Given the description of an element on the screen output the (x, y) to click on. 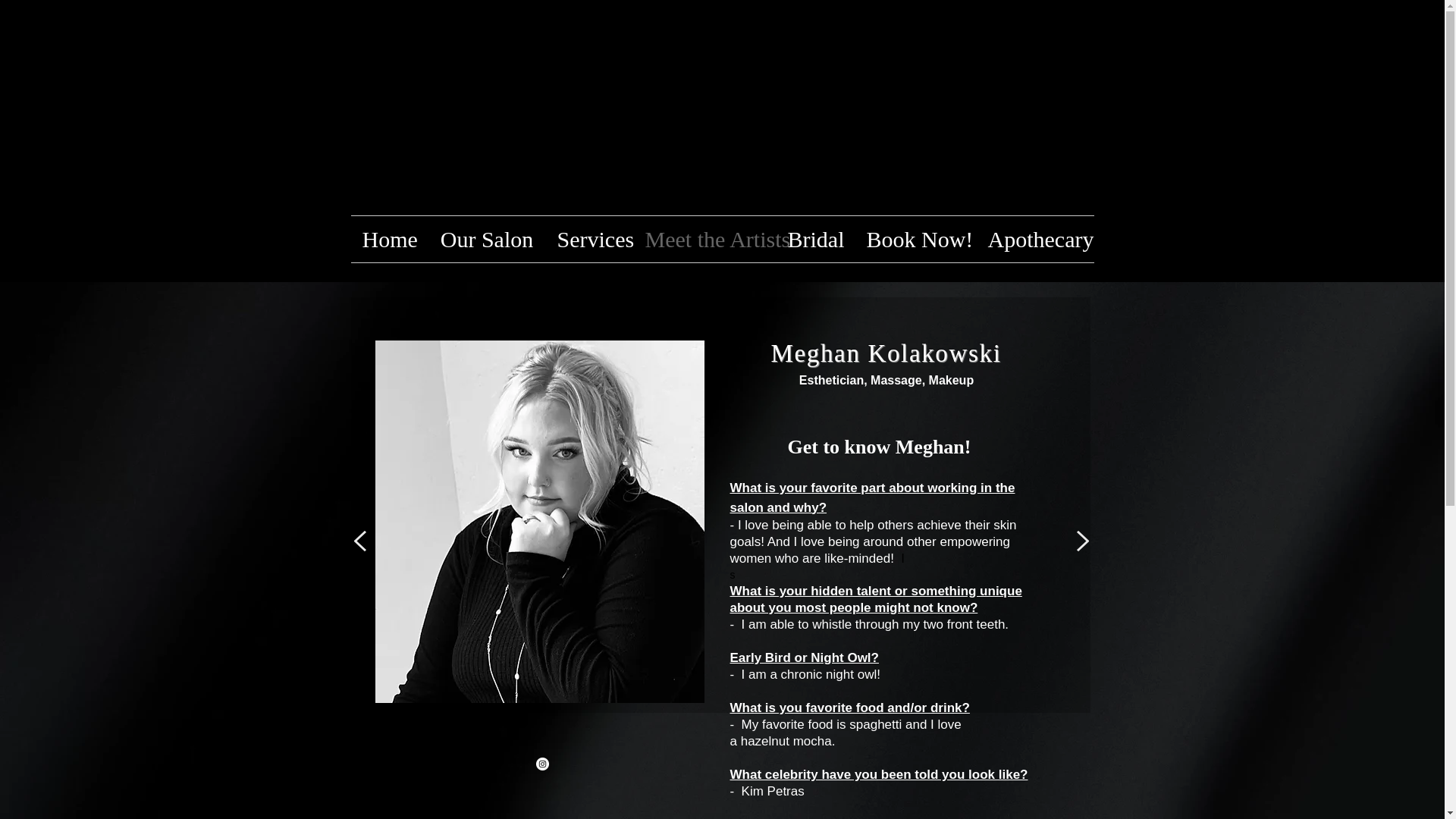
Book Now! (916, 239)
Home (389, 239)
Meet the Artists (704, 239)
Apothecary (1035, 239)
Bridal (816, 239)
Our Salon (486, 239)
Services (589, 239)
